Given the description of an element on the screen output the (x, y) to click on. 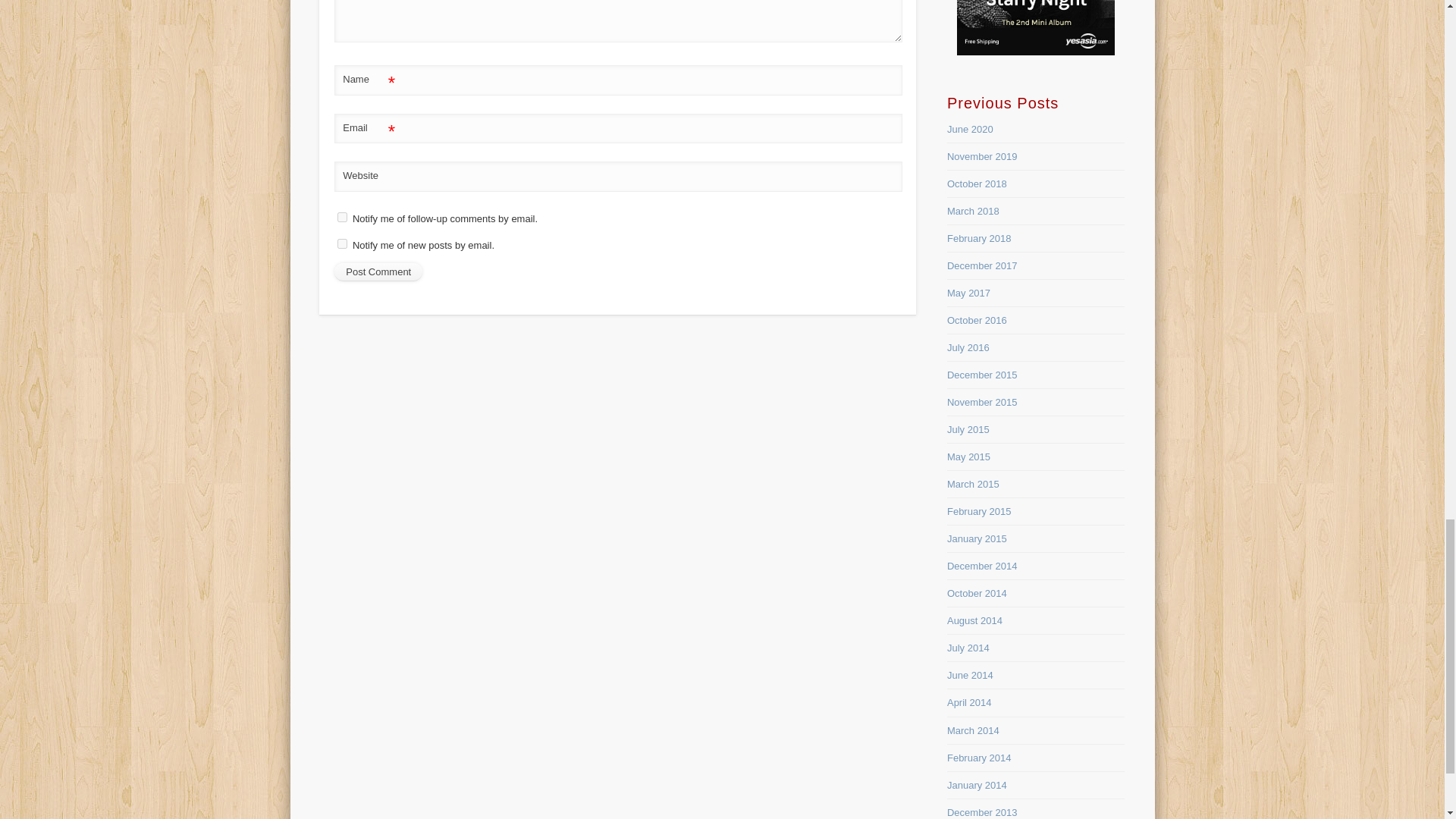
May 2017 (968, 292)
December 2017 (982, 265)
March 2018 (972, 211)
November 2019 (982, 156)
subscribe (342, 216)
Post Comment (378, 271)
June 2020 (969, 128)
October 2018 (977, 183)
February 2018 (979, 238)
Post Comment (378, 271)
